Given the description of an element on the screen output the (x, y) to click on. 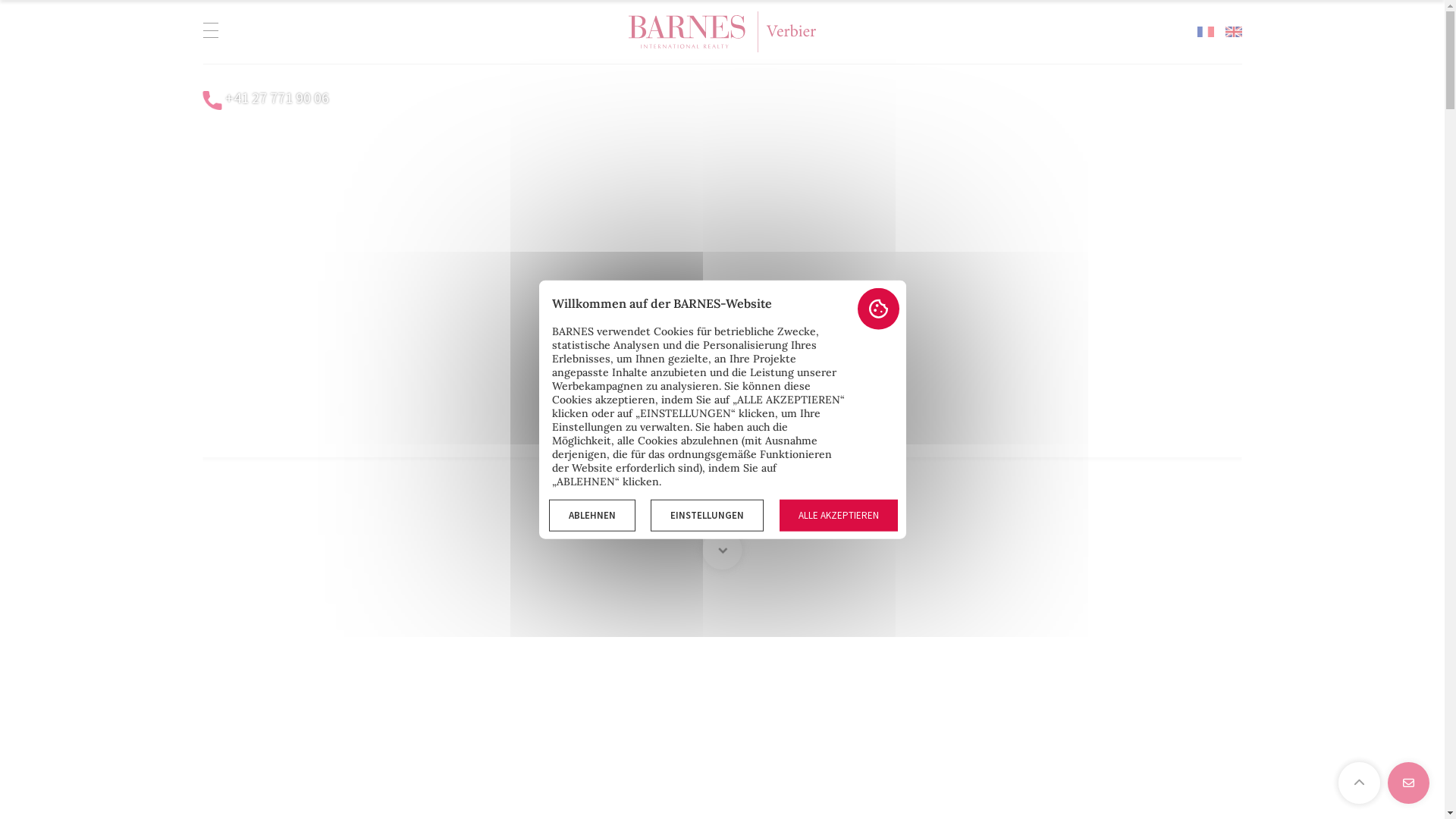
ABLEHNEN Element type: text (592, 515)
+41 27 771 90 06 Element type: text (276, 96)
Vermietung Element type: text (777, 418)
Unsere Erfolge Element type: text (940, 418)
Chalets zum Verkauf Element type: text (341, 418)
EINSTELLUNGEN Element type: text (706, 515)
ALLE AKZEPTIEREN Element type: text (838, 515)
Unsere Agentur Element type: text (1119, 418)
Wohnungen zum Verkauf Element type: text (576, 418)
BARNES Suisse Element type: hover (721, 31)
